Given the description of an element on the screen output the (x, y) to click on. 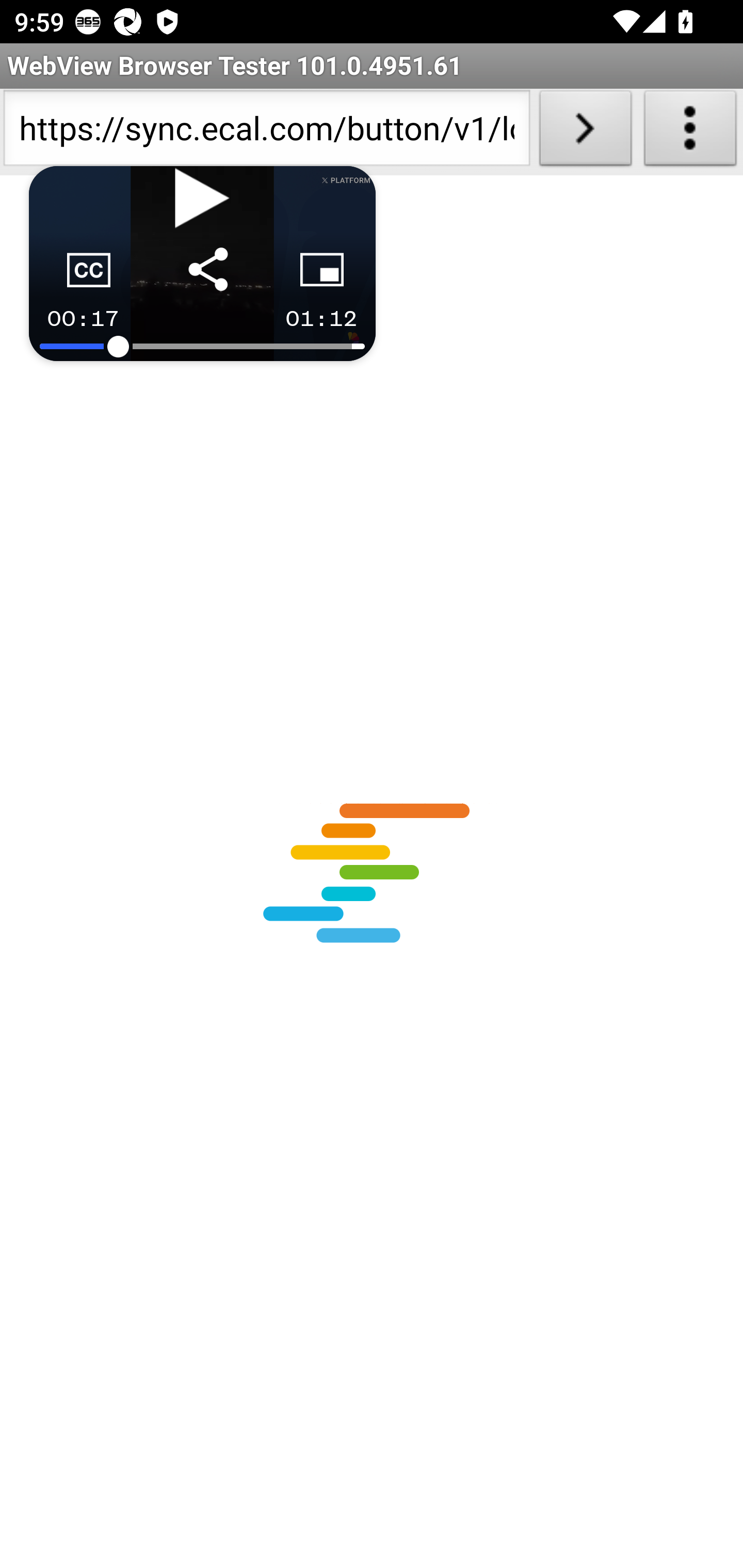
https://sync.ecal.com/button/v1/loading.html (266, 132)
Load URL (585, 132)
About WebView (690, 132)
